Given the description of an element on the screen output the (x, y) to click on. 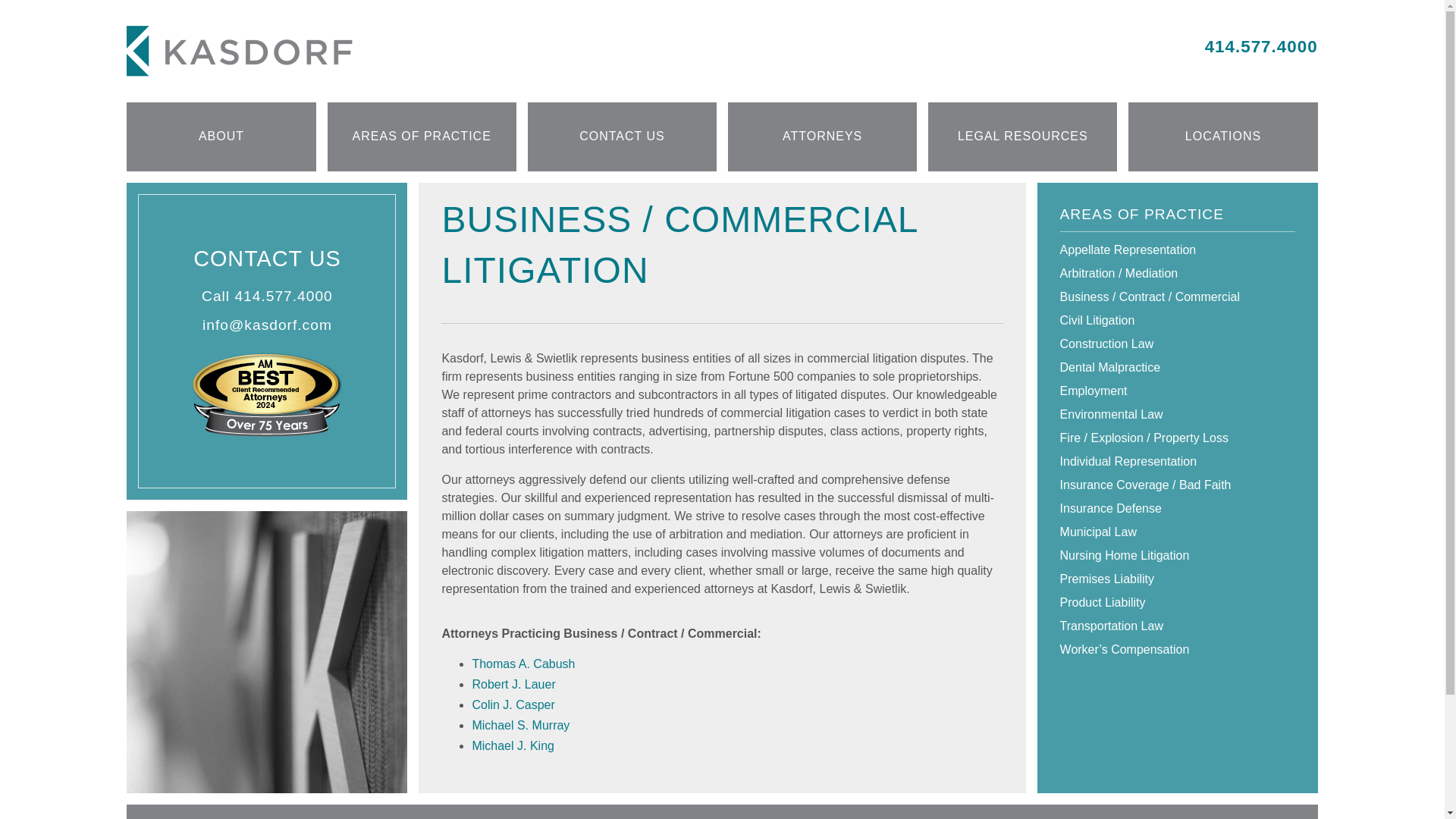
LEGAL RESOURCES (1022, 136)
Robert J. Lauer (512, 684)
Environmental Law (1177, 414)
Thomas A. Cabush (523, 663)
ATTORNEYS (822, 136)
Dental Malpractice (1177, 367)
Municipal Law (1177, 531)
Michael J. King (512, 745)
Premises Liability (1177, 578)
Civil Litigation (1177, 320)
Product Liability (1177, 602)
Colin J. Casper (512, 704)
ABOUT (220, 136)
CONTACT US (621, 136)
Appellate Representation (1177, 250)
